Given the description of an element on the screen output the (x, y) to click on. 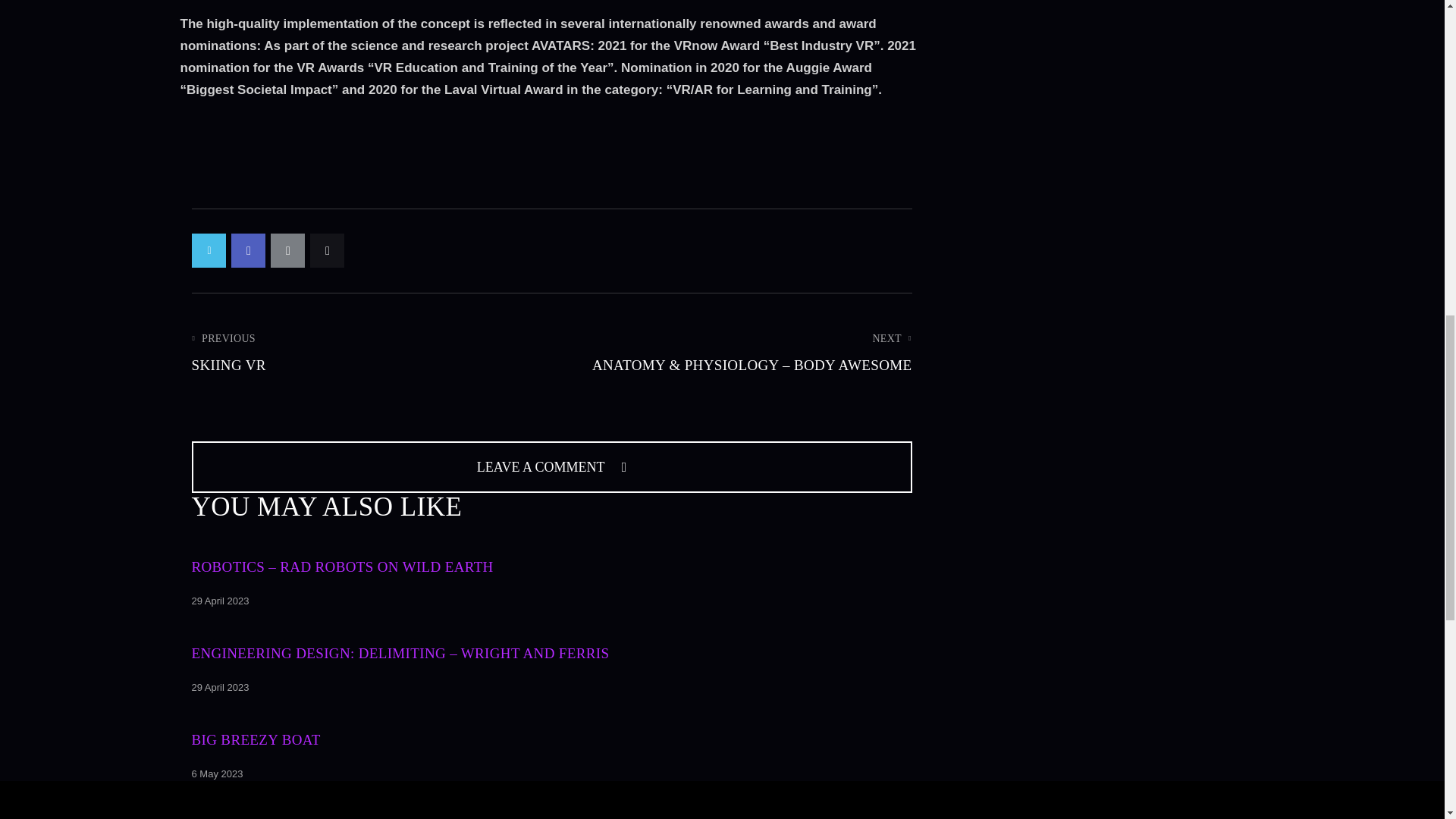
Copy URL to clipboard (325, 250)
